Given the description of an element on the screen output the (x, y) to click on. 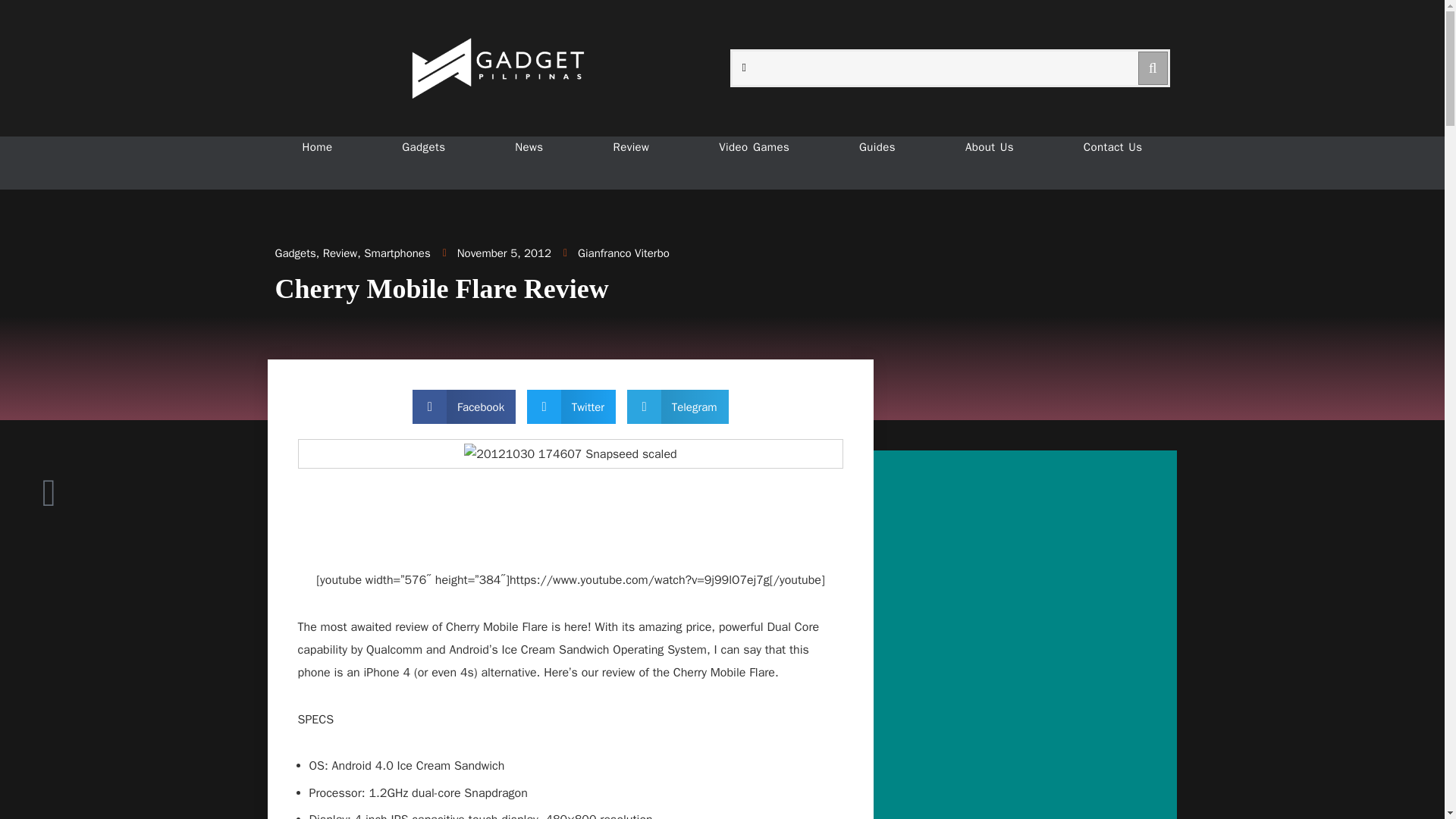
Review (631, 147)
Smartphones (396, 252)
Guides (877, 147)
About Us (989, 147)
Video Games (754, 147)
Contact Us (1112, 147)
Gadgets (295, 252)
Review (340, 252)
Home (316, 147)
News (529, 147)
